Given the description of an element on the screen output the (x, y) to click on. 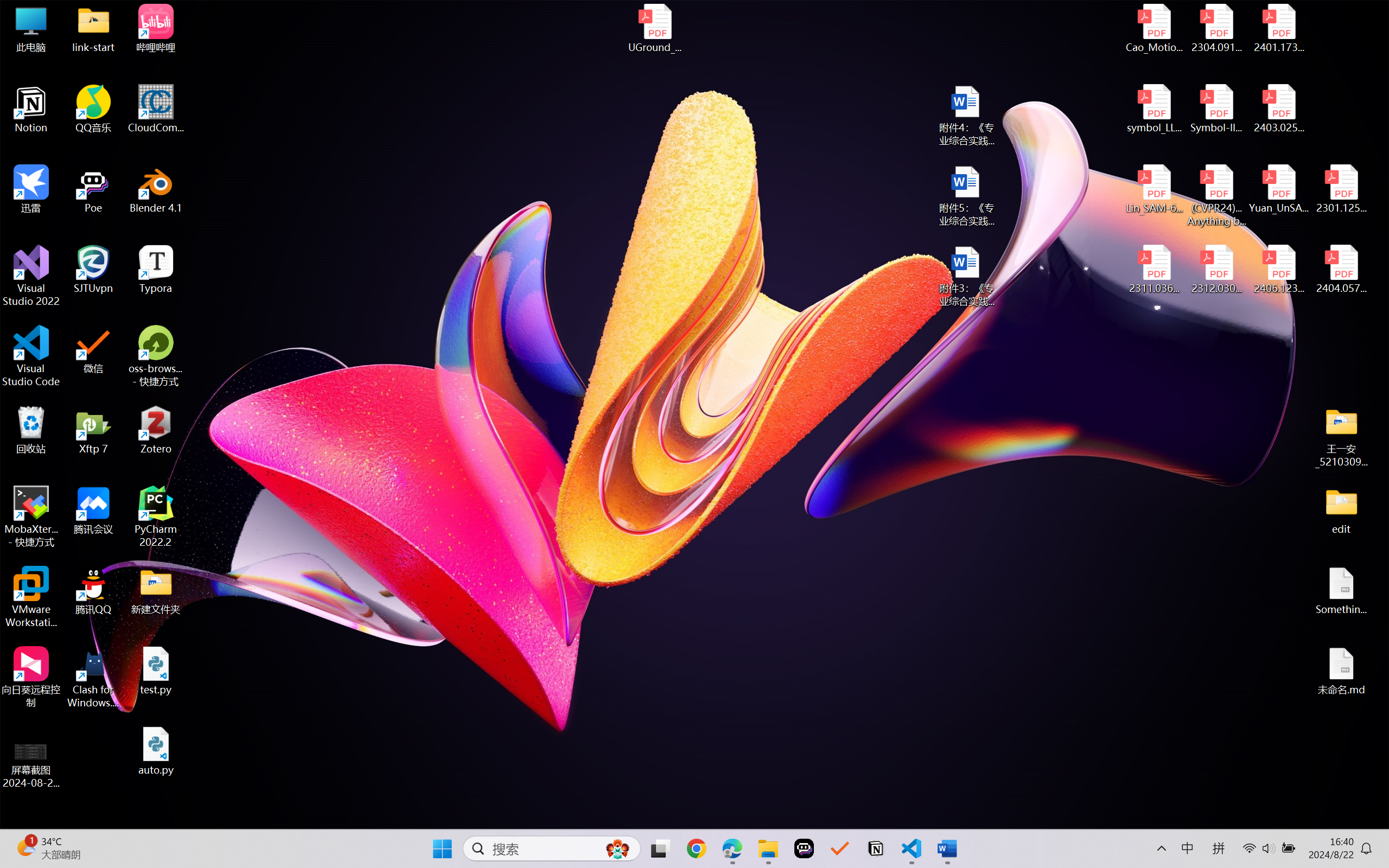
Notion (875, 848)
Symbol-llm-v2.pdf (1216, 109)
CloudCompare (156, 109)
Poe (93, 189)
